Given the description of an element on the screen output the (x, y) to click on. 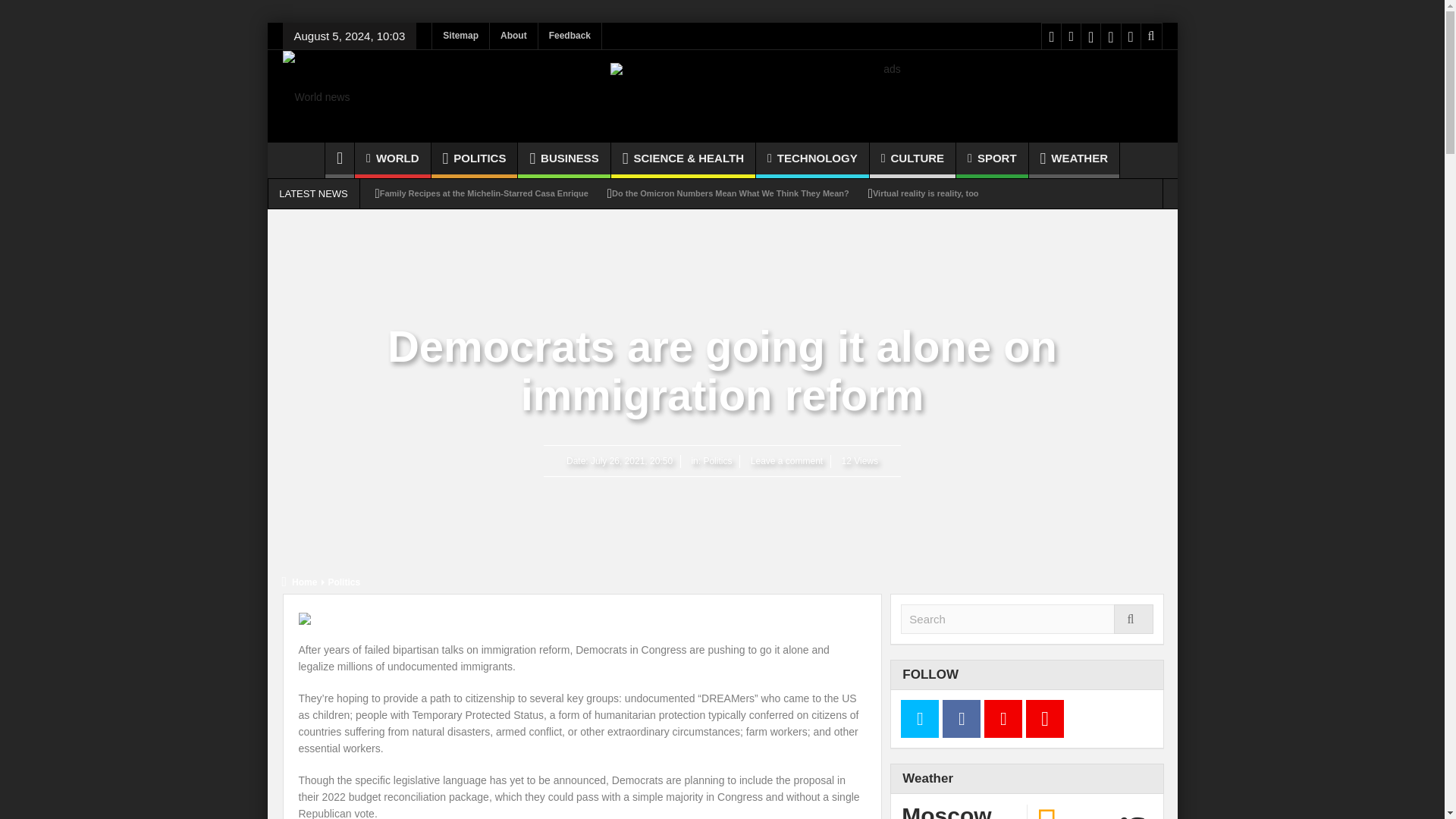
Sitemap (460, 35)
Do the Omicron Numbers Mean What We Think They Mean? (729, 193)
TECHNOLOGY (812, 160)
Family Recipes at the Michelin-Starred Casa Enrique (484, 193)
Search (1027, 618)
Politics (717, 460)
About (513, 35)
Virtual reality is reality, too (925, 193)
Feedback (569, 35)
BUSINESS (564, 160)
Politics (343, 581)
World news (315, 96)
Search for: (1027, 618)
WEATHER (1074, 160)
SPORT (991, 160)
